Given the description of an element on the screen output the (x, y) to click on. 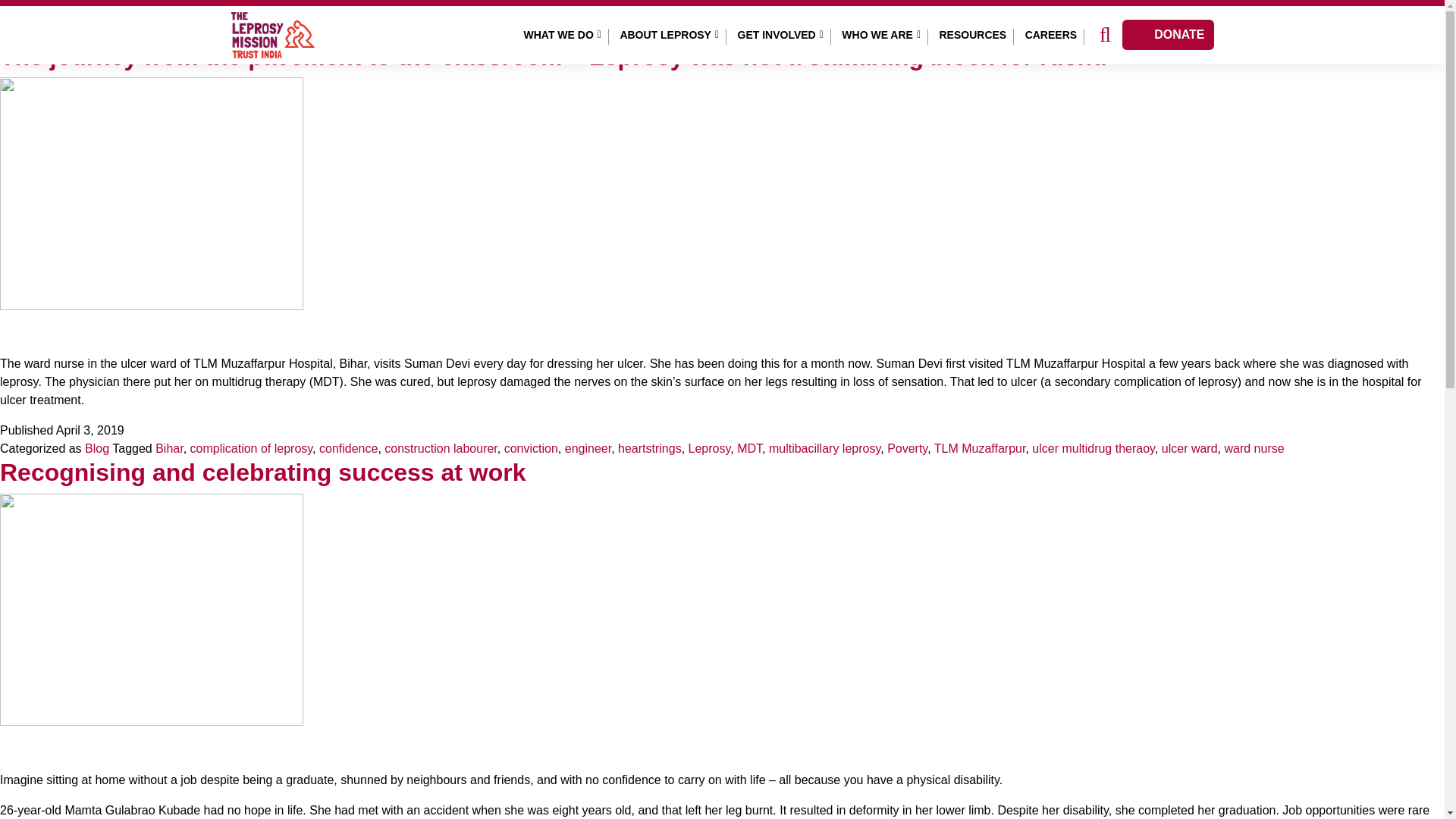
GET INVOLVED (780, 34)
WHO WE ARE (881, 34)
WHAT WE DO (562, 34)
WHO WE ARE (881, 34)
DONATE (1167, 34)
RESOURCES (972, 34)
CAREERS (1050, 34)
RESOURCES (972, 34)
ABOUT LEPROSY (668, 34)
CAREERS (1050, 34)
